Given the description of an element on the screen output the (x, y) to click on. 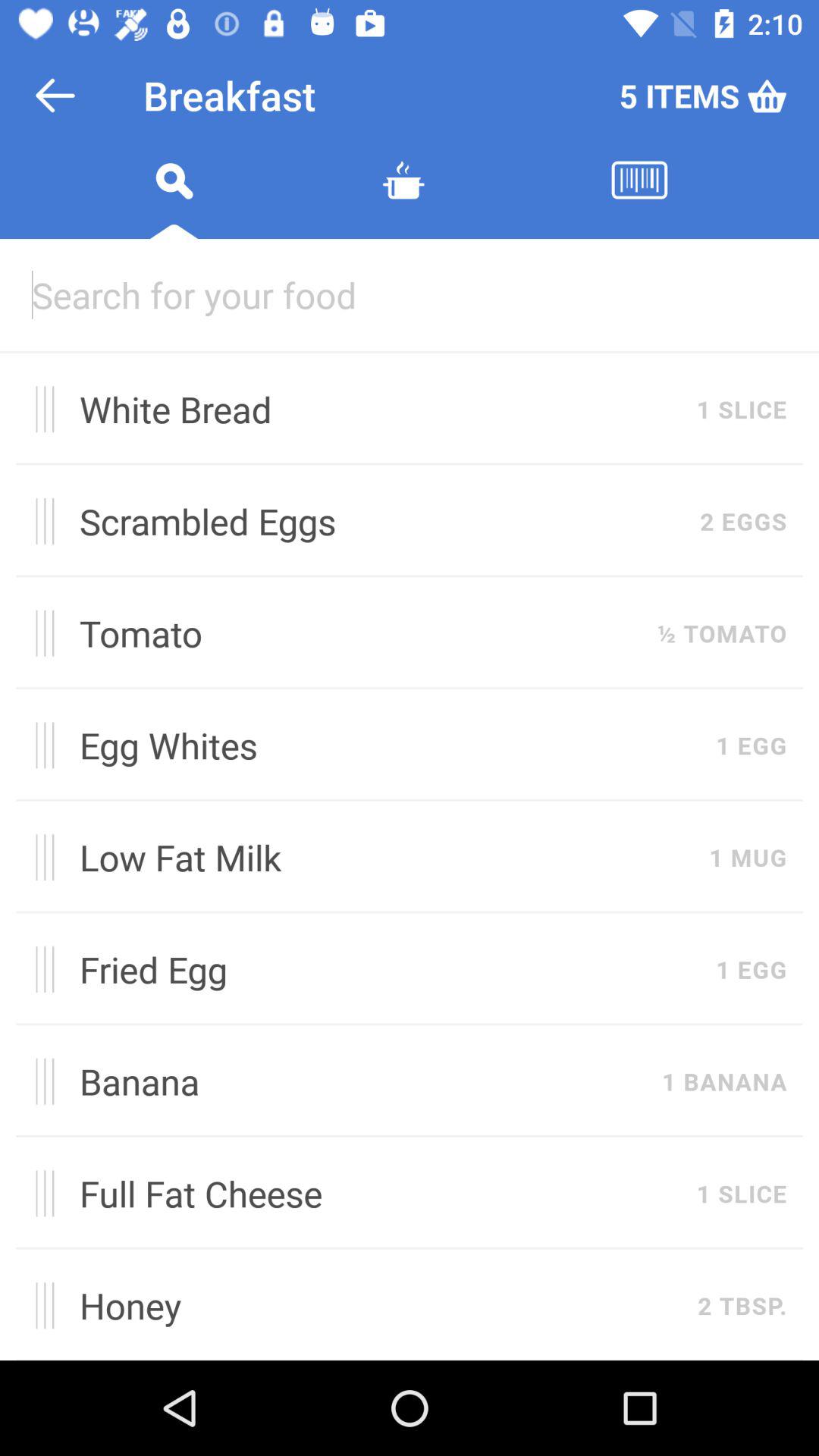
choose honey (380, 1305)
